Given the description of an element on the screen output the (x, y) to click on. 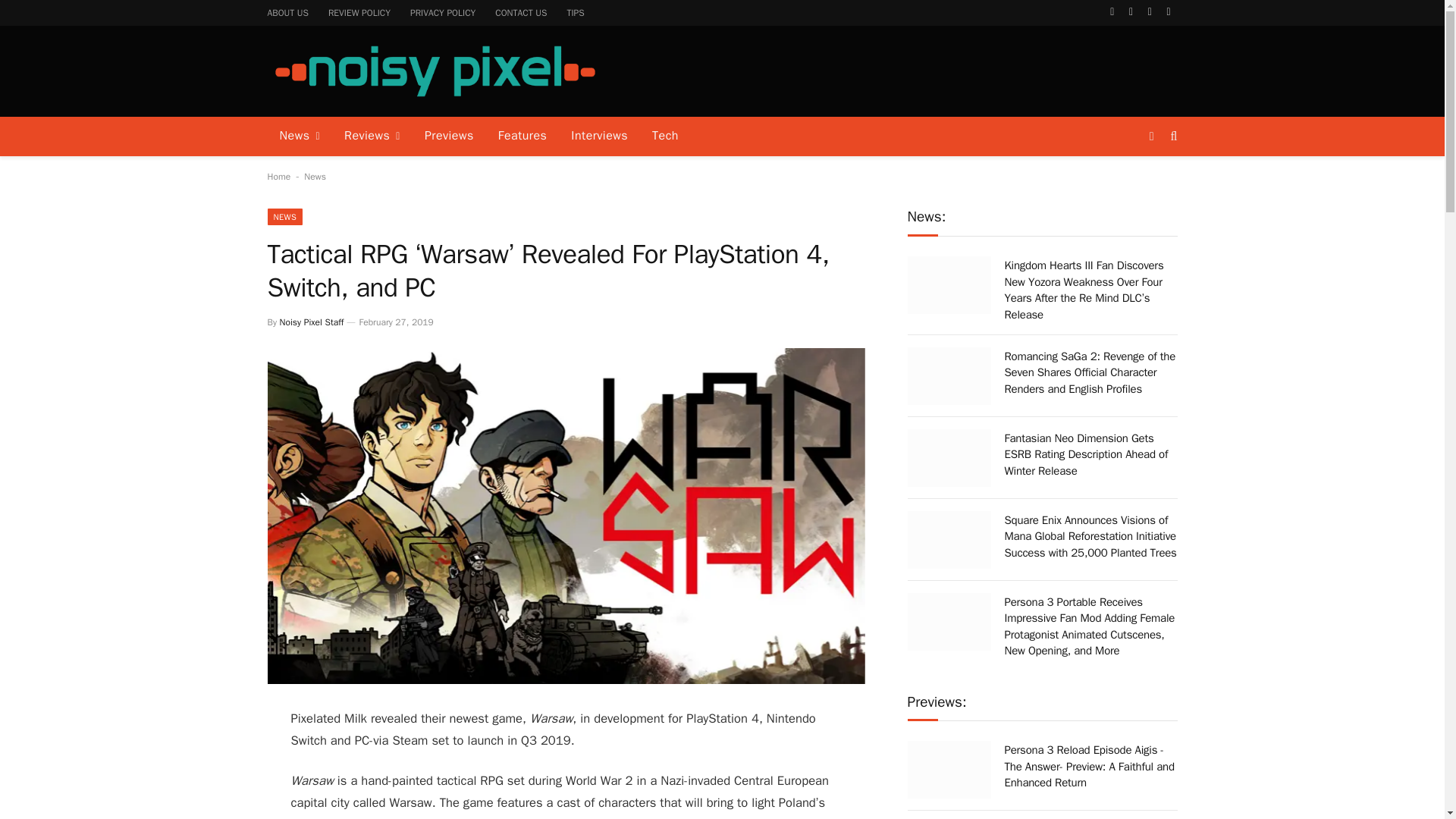
Reviews (371, 136)
REVIEW POLICY (359, 12)
Switch to Dark Design - easier on eyes. (1151, 136)
Noisy Pixel (434, 71)
ABOUT US (287, 12)
Features (522, 136)
PRIVACY POLICY (442, 12)
Noisy Pixel Staff (311, 322)
Home (277, 176)
TIPS (575, 12)
